Given the description of an element on the screen output the (x, y) to click on. 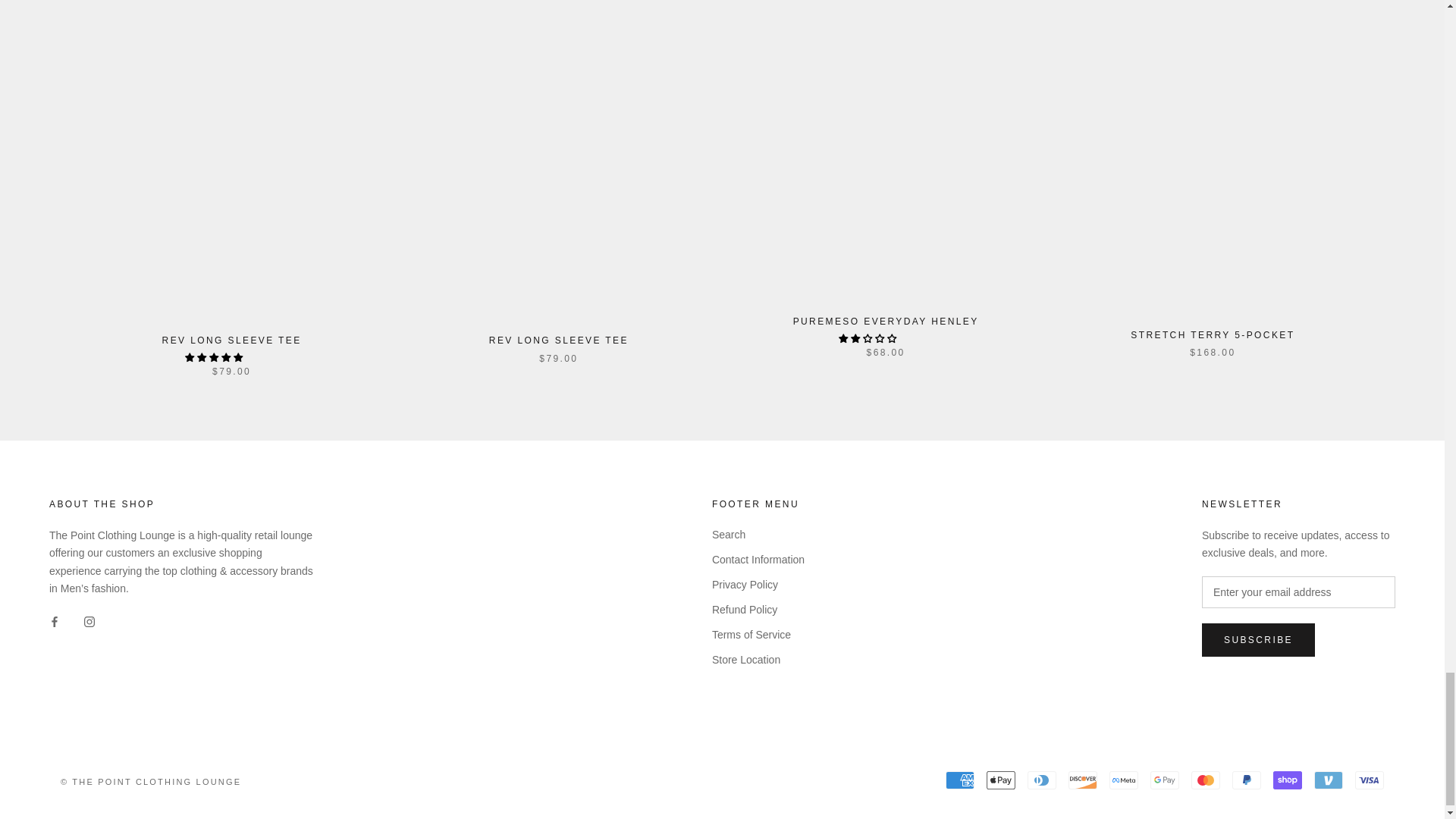
Diners Club (1042, 780)
Apple Pay (1000, 780)
Discover (1082, 780)
Meta Pay (1123, 780)
American Express (959, 780)
PayPal (1245, 780)
Google Pay (1164, 780)
Mastercard (1205, 780)
